Given the description of an element on the screen output the (x, y) to click on. 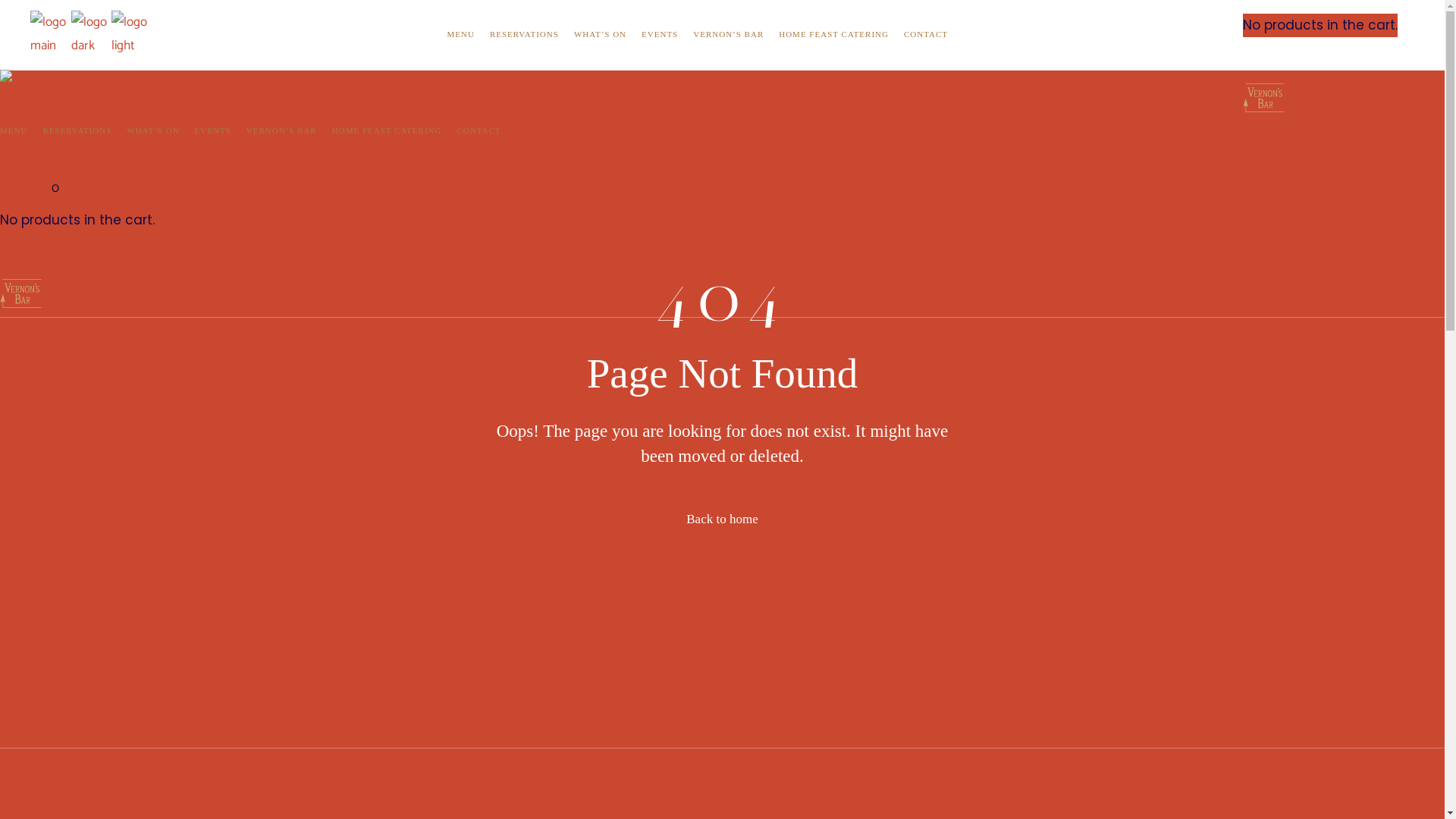
CONTACT Element type: text (478, 131)
RESERVATIONS Element type: text (76, 131)
HOME FEAST CATERING Element type: text (833, 34)
HOME FEAST CATERING Element type: text (387, 131)
0 Element type: text (29, 187)
RESERVATIONS Element type: text (523, 34)
MENU Element type: text (13, 131)
CONTACT Element type: text (925, 34)
EVENTS Element type: text (212, 131)
MENU Element type: text (459, 34)
Back to home Element type: text (721, 519)
EVENTS Element type: text (659, 34)
